Given the description of an element on the screen output the (x, y) to click on. 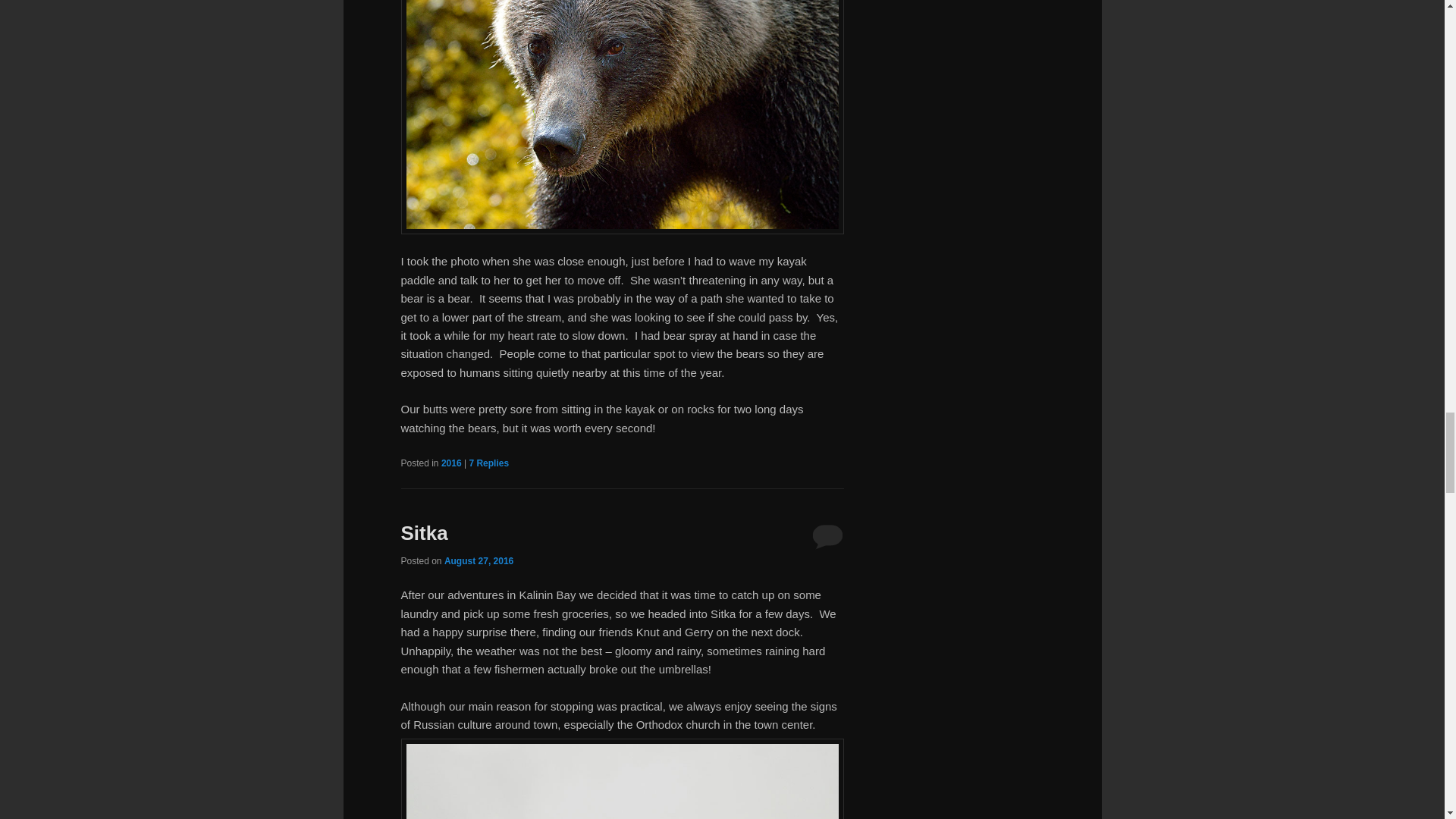
2016 (451, 462)
Sitka (423, 532)
12:43 (478, 561)
7 Replies (488, 462)
August 27, 2016 (478, 561)
